Given the description of an element on the screen output the (x, y) to click on. 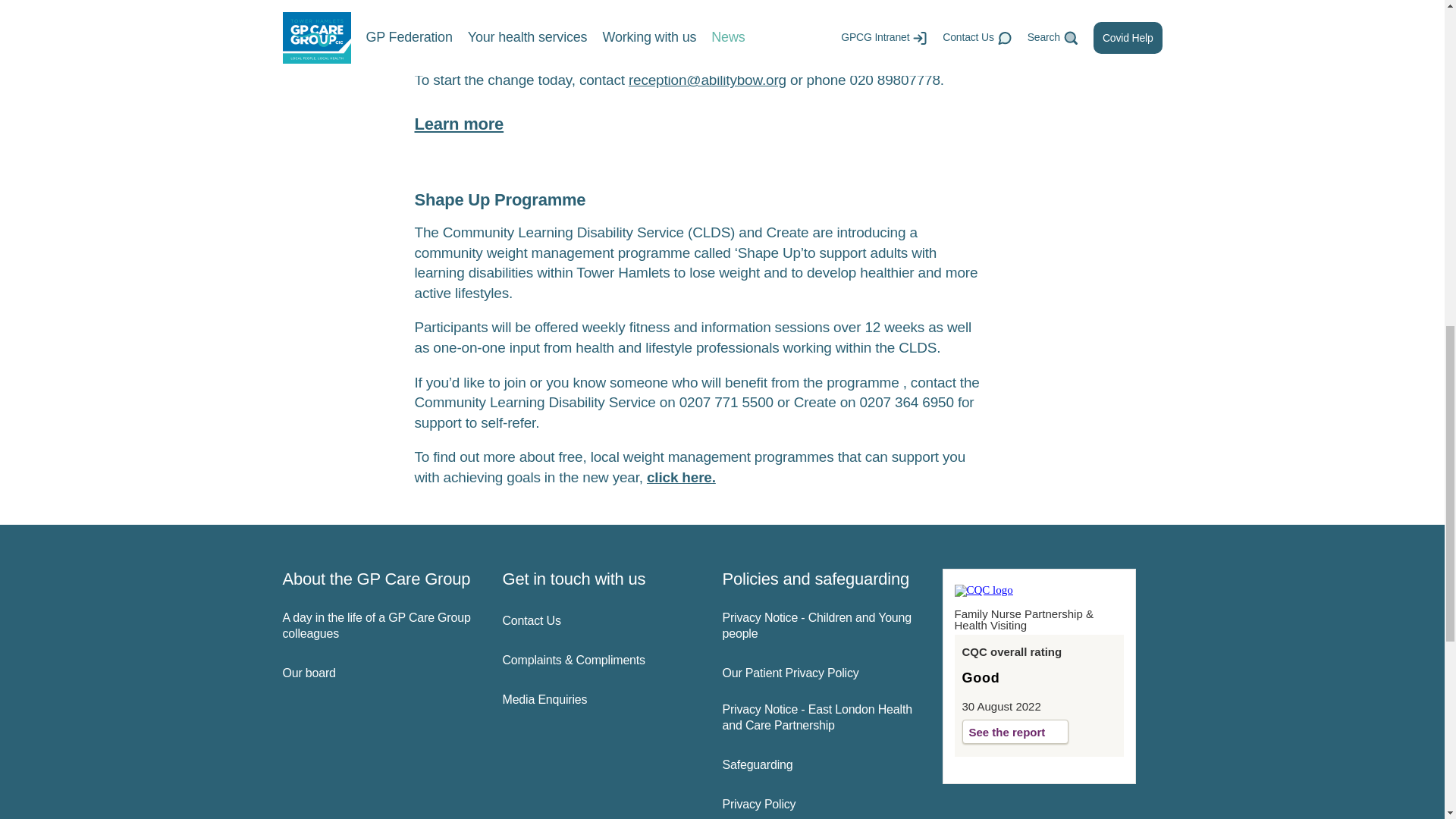
Our Patient Privacy Policy (818, 673)
Media Enquiries (598, 700)
Privacy Policy (818, 804)
Learn more (458, 123)
CQC Logo (982, 589)
Contact Us (598, 621)
Privacy Notice - Children and Young people (818, 626)
click here. (681, 477)
Privacy Notice - East London Health and Care Partnership (818, 717)
A day in the life of a GP Care Group colleagues (379, 626)
